Given the description of an element on the screen output the (x, y) to click on. 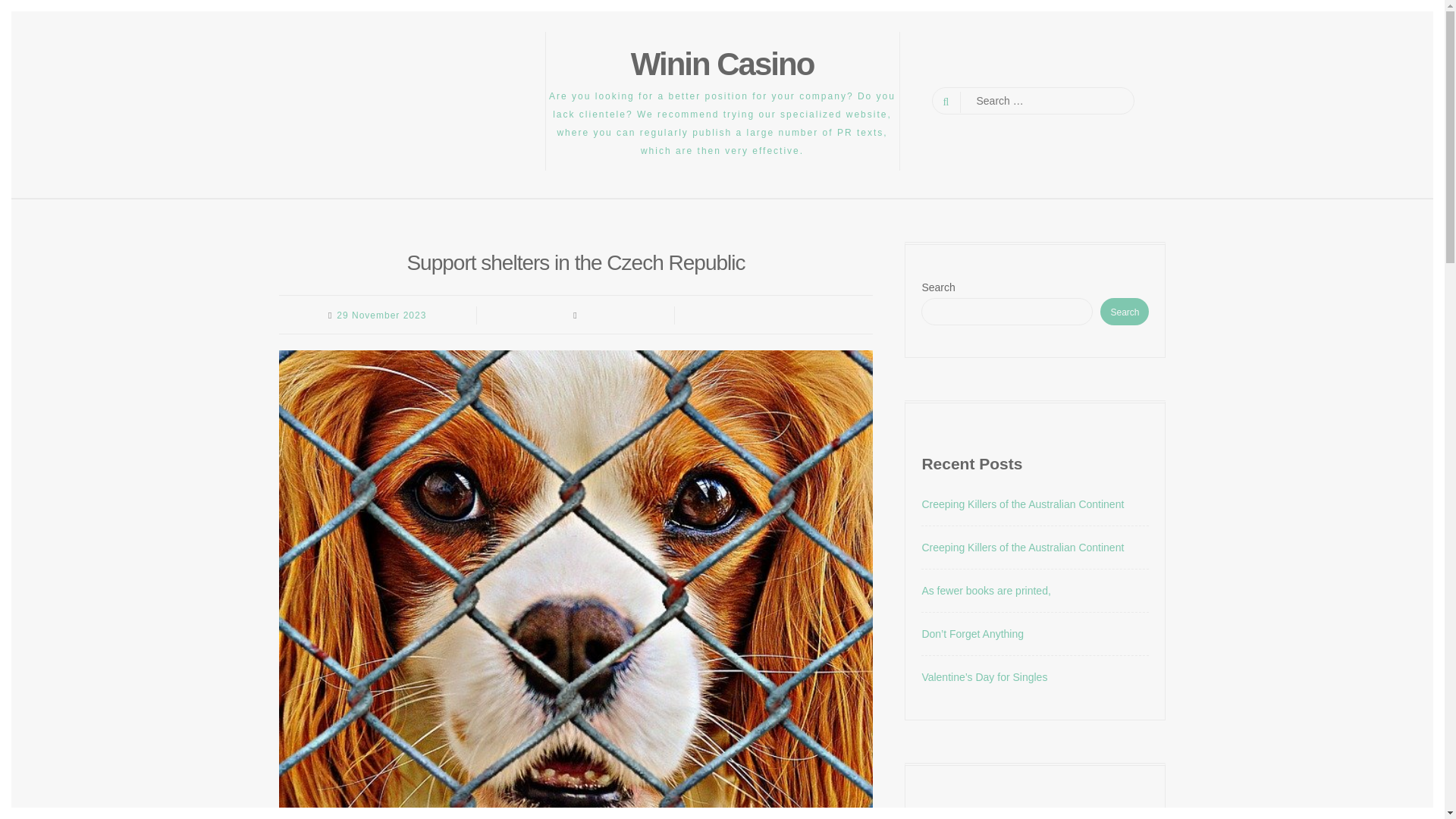
Search (1124, 311)
Creeping Killers of the Australian Continent (1022, 503)
Winin Casino (721, 63)
Search (24, 9)
Creeping Killers of the Australian Continent (1022, 547)
As fewer books are printed, (985, 590)
29 November 2023 (381, 315)
